Given the description of an element on the screen output the (x, y) to click on. 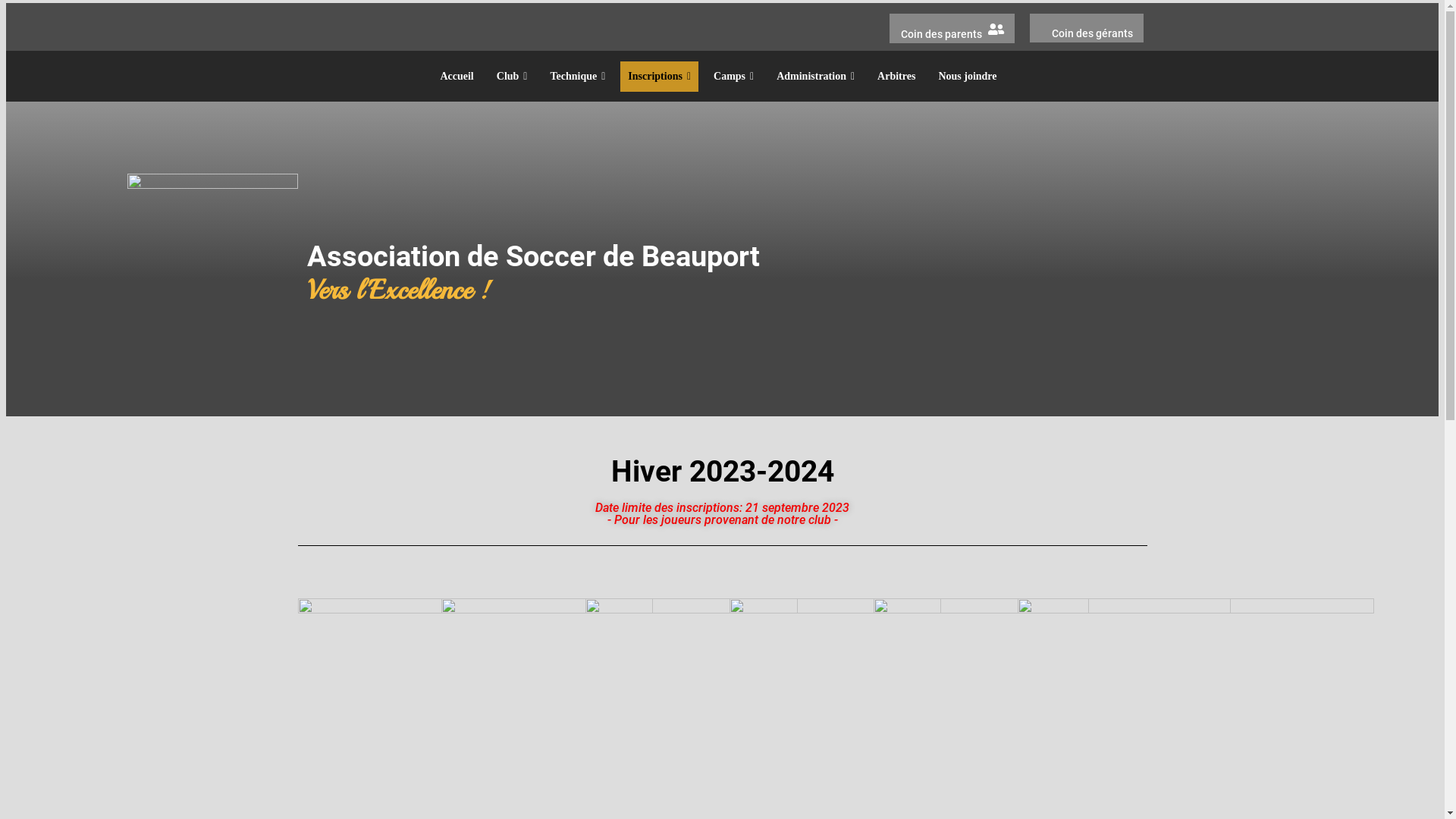
Nous joindre Element type: text (967, 76)
Club Element type: text (512, 76)
Coin des parents Element type: text (941, 34)
Technique Element type: text (577, 76)
Association de Soccer de Beauport Element type: text (533, 256)
Administration Element type: text (815, 76)
Accueil Element type: text (456, 76)
Inscriptions Element type: text (659, 76)
Arbitres Element type: text (895, 76)
Camps Element type: text (733, 76)
